Given the description of an element on the screen output the (x, y) to click on. 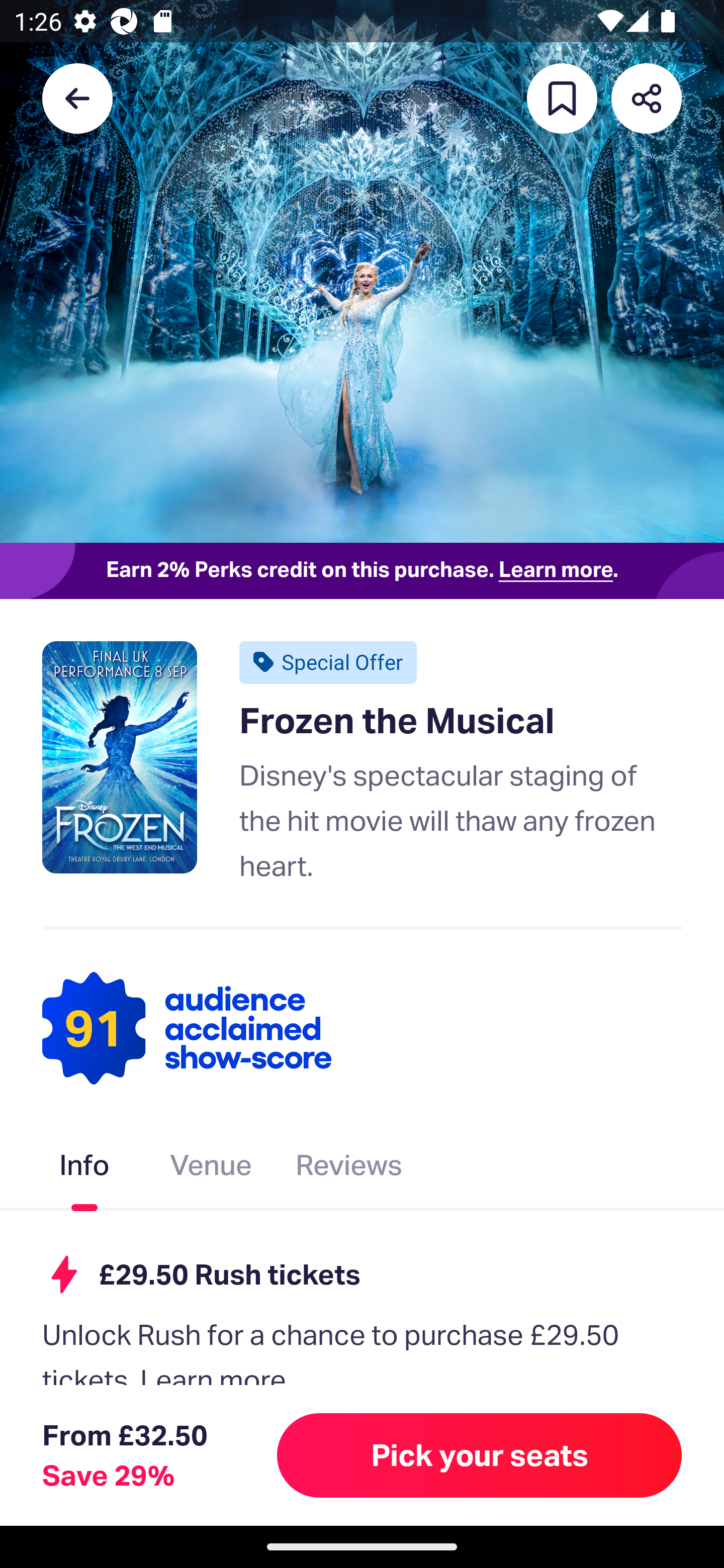
Earn 2% Perks credit on this purchase. Learn more. (362, 570)
Venue (210, 1168)
Reviews (348, 1168)
Pick your seats (479, 1454)
